Given the description of an element on the screen output the (x, y) to click on. 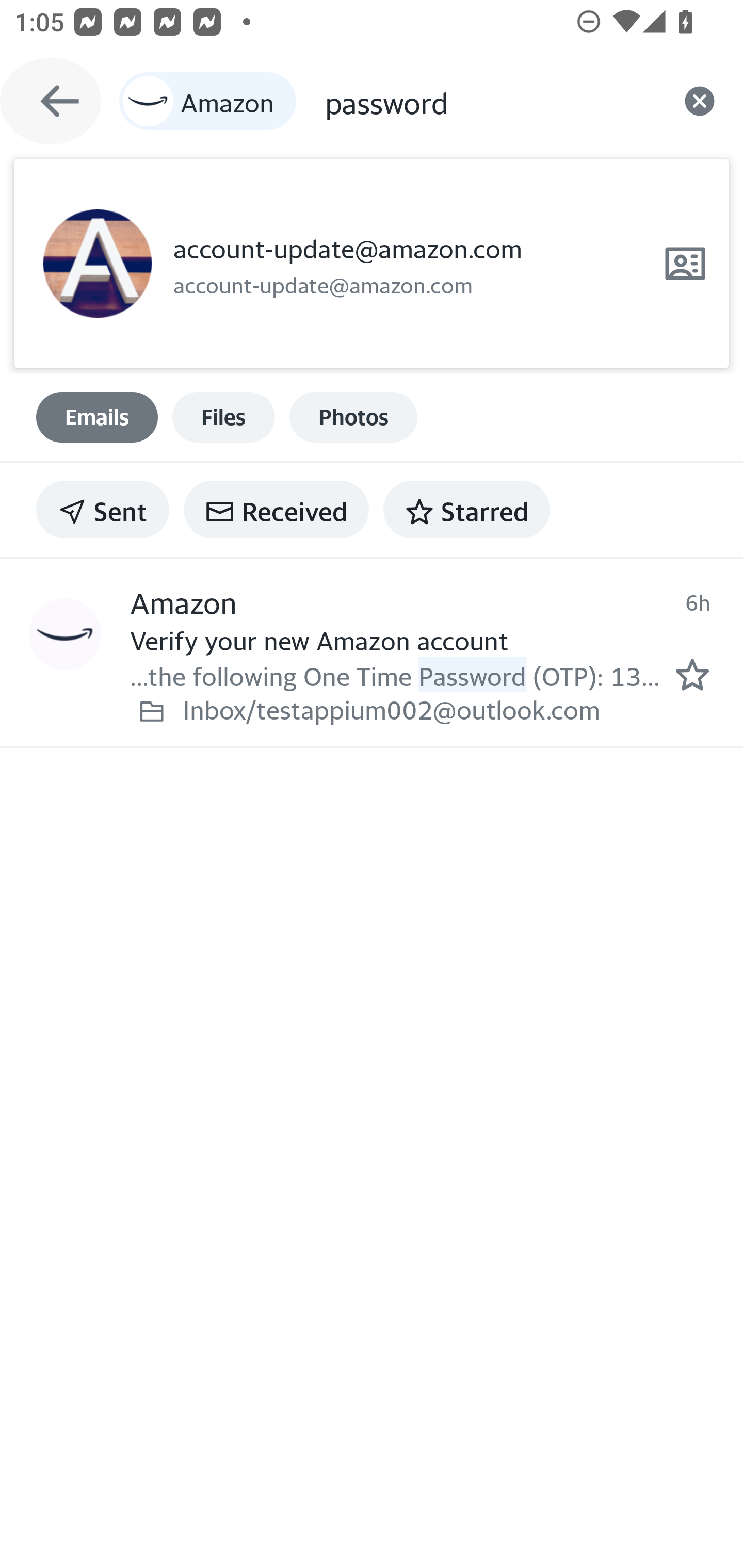
Back (50, 101)
password (490, 101)
Clear (699, 101)
Profile (97, 264)
Emails (96, 417)
Files (223, 417)
Photos (353, 417)
Sent (102, 509)
Received (276, 509)
Starred (466, 509)
Profile
Amazon (64, 634)
Mark as starred. (692, 674)
